Given the description of an element on the screen output the (x, y) to click on. 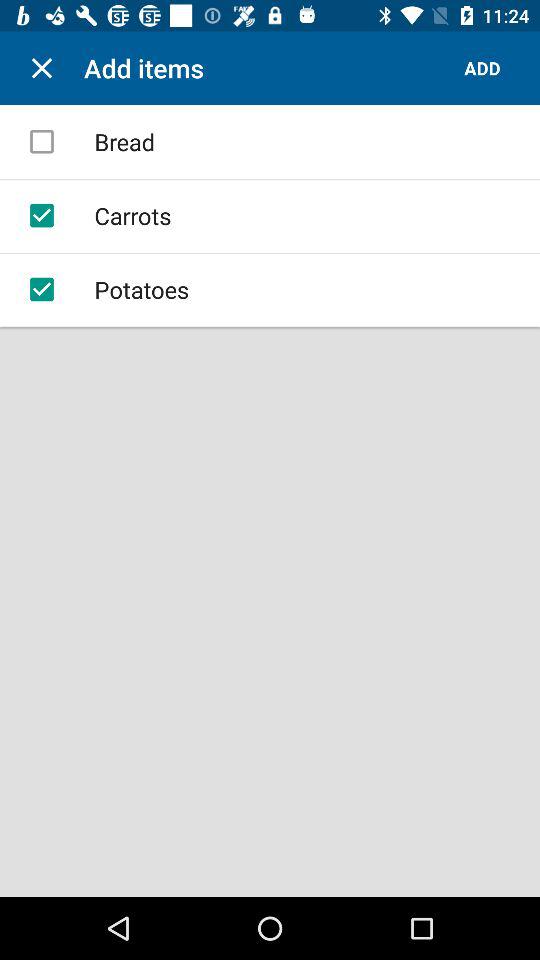
launch item next to the add items icon (42, 68)
